Given the description of an element on the screen output the (x, y) to click on. 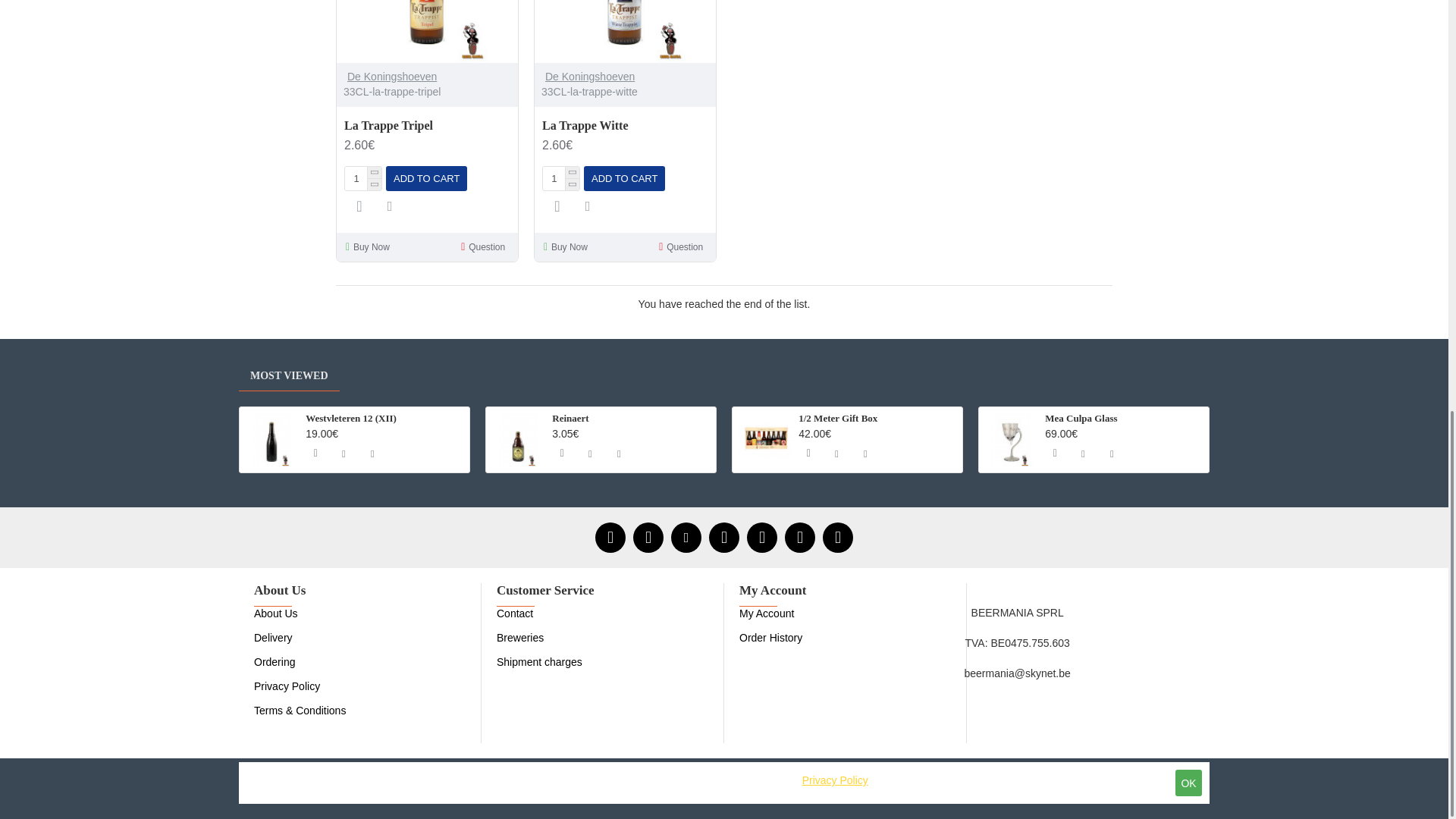
1 (561, 178)
1 (363, 178)
